Given the description of an element on the screen output the (x, y) to click on. 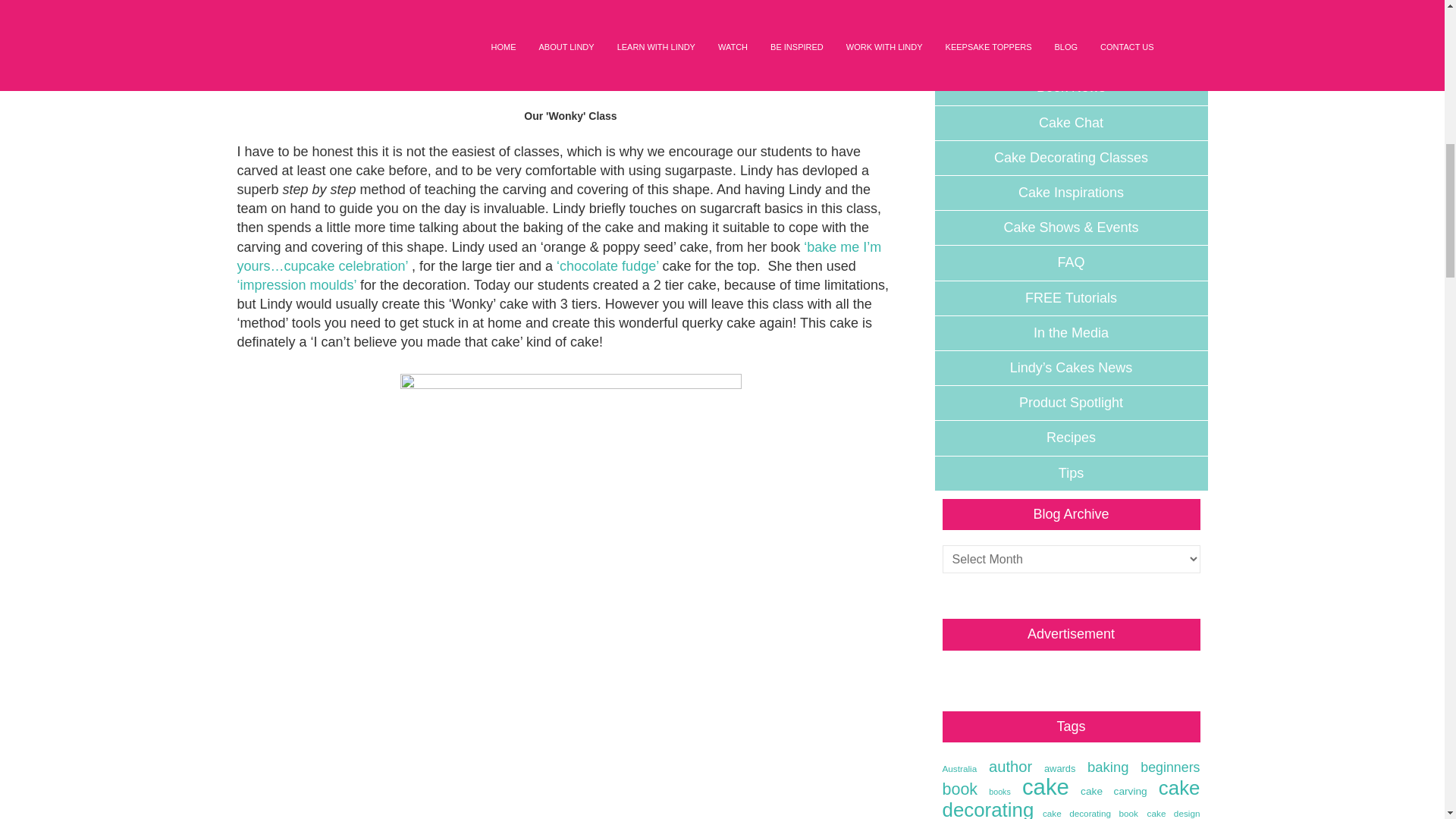
WonkyFebOne (570, 54)
